Given the description of an element on the screen output the (x, y) to click on. 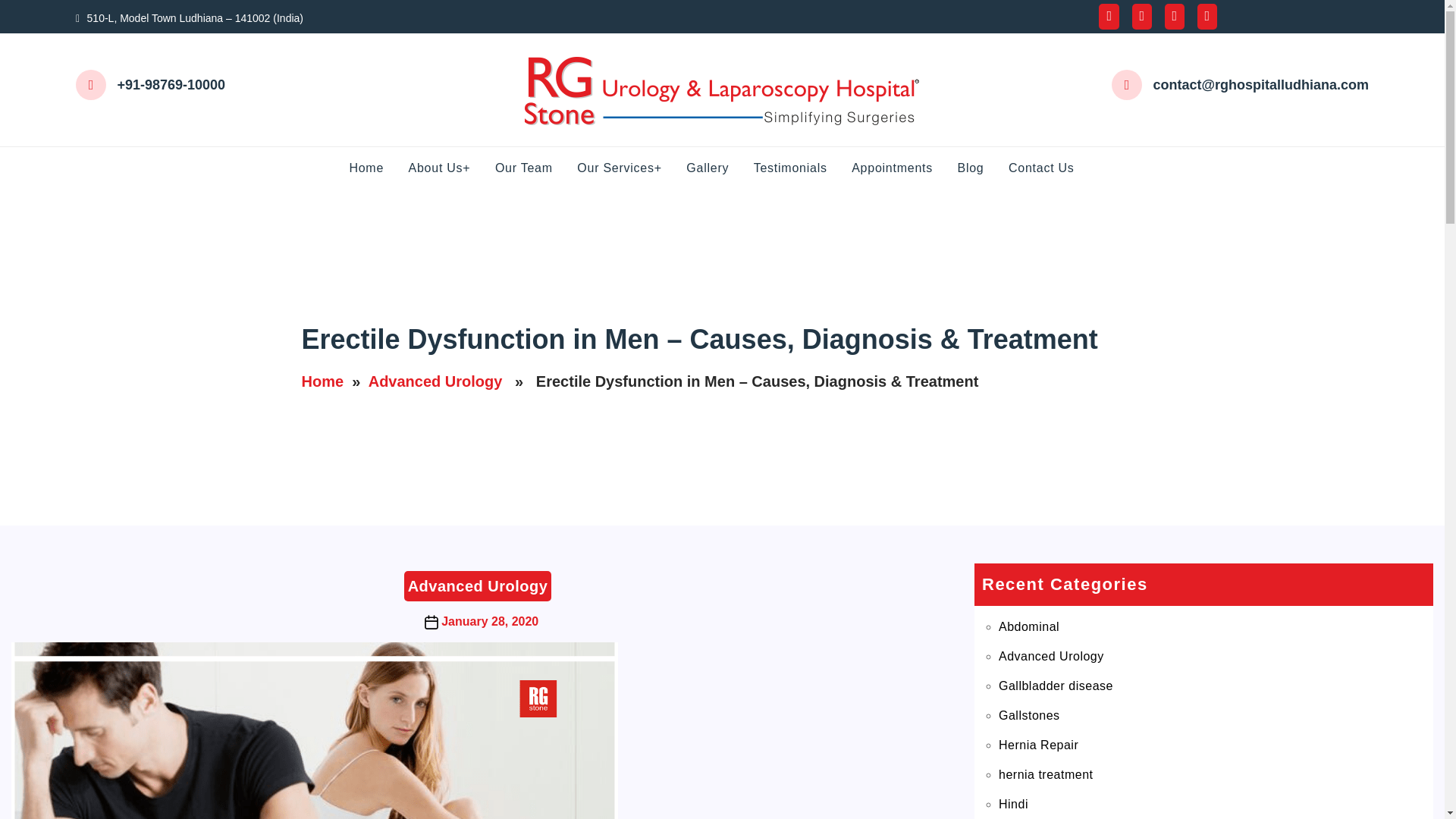
Contact Us (1052, 168)
Our Team (534, 168)
Home (322, 381)
Home (376, 168)
Blog (980, 168)
Gallery (717, 168)
Advanced Urology (435, 381)
Testimonials (801, 168)
Appointments (902, 168)
